Given the description of an element on the screen output the (x, y) to click on. 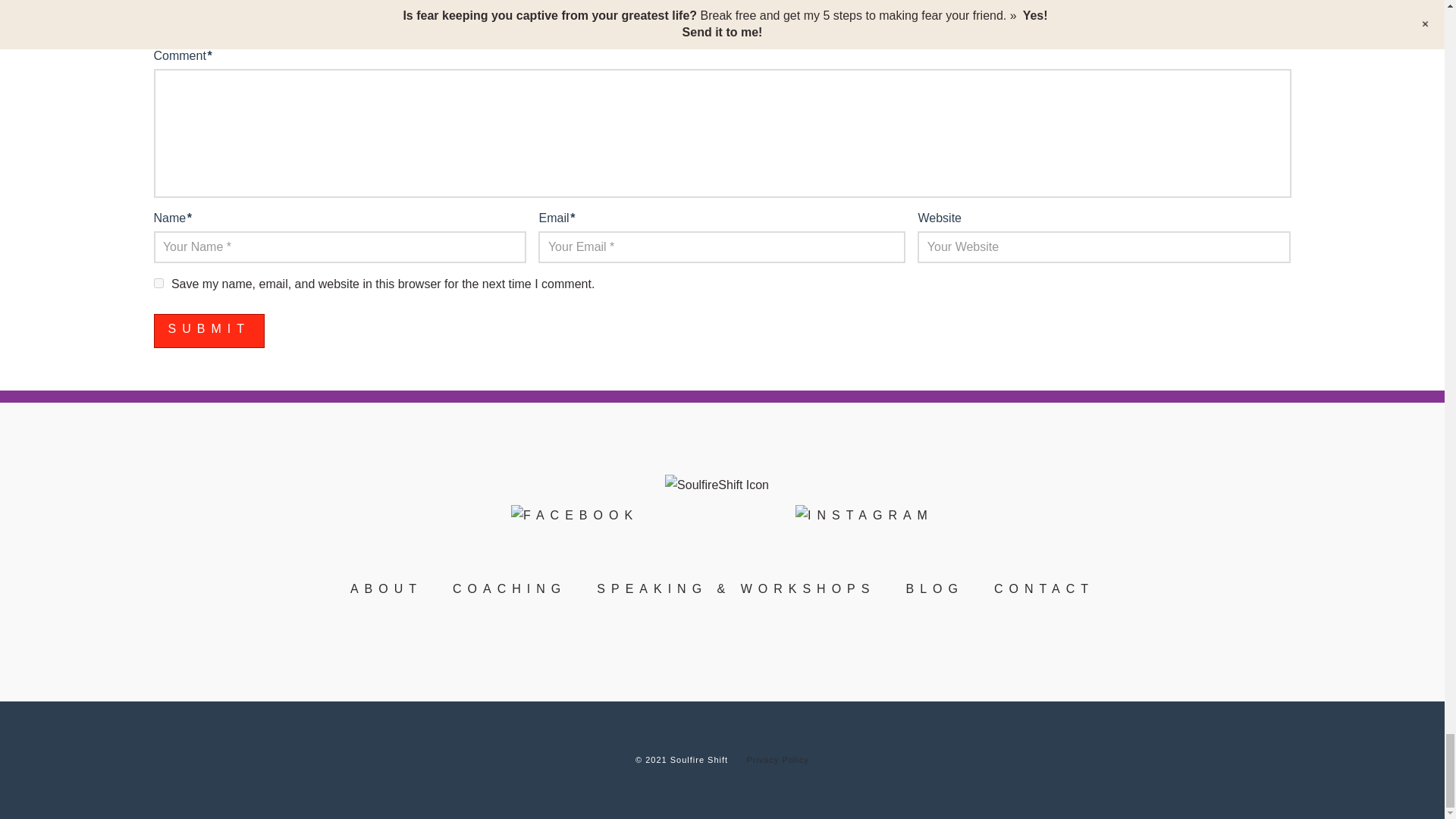
yes (157, 283)
BLOG (933, 588)
CONTACT (1044, 588)
Submit (207, 330)
Submit (207, 330)
Privacy Policy (776, 759)
ABOUT (386, 588)
COACHING (509, 588)
